Given the description of an element on the screen output the (x, y) to click on. 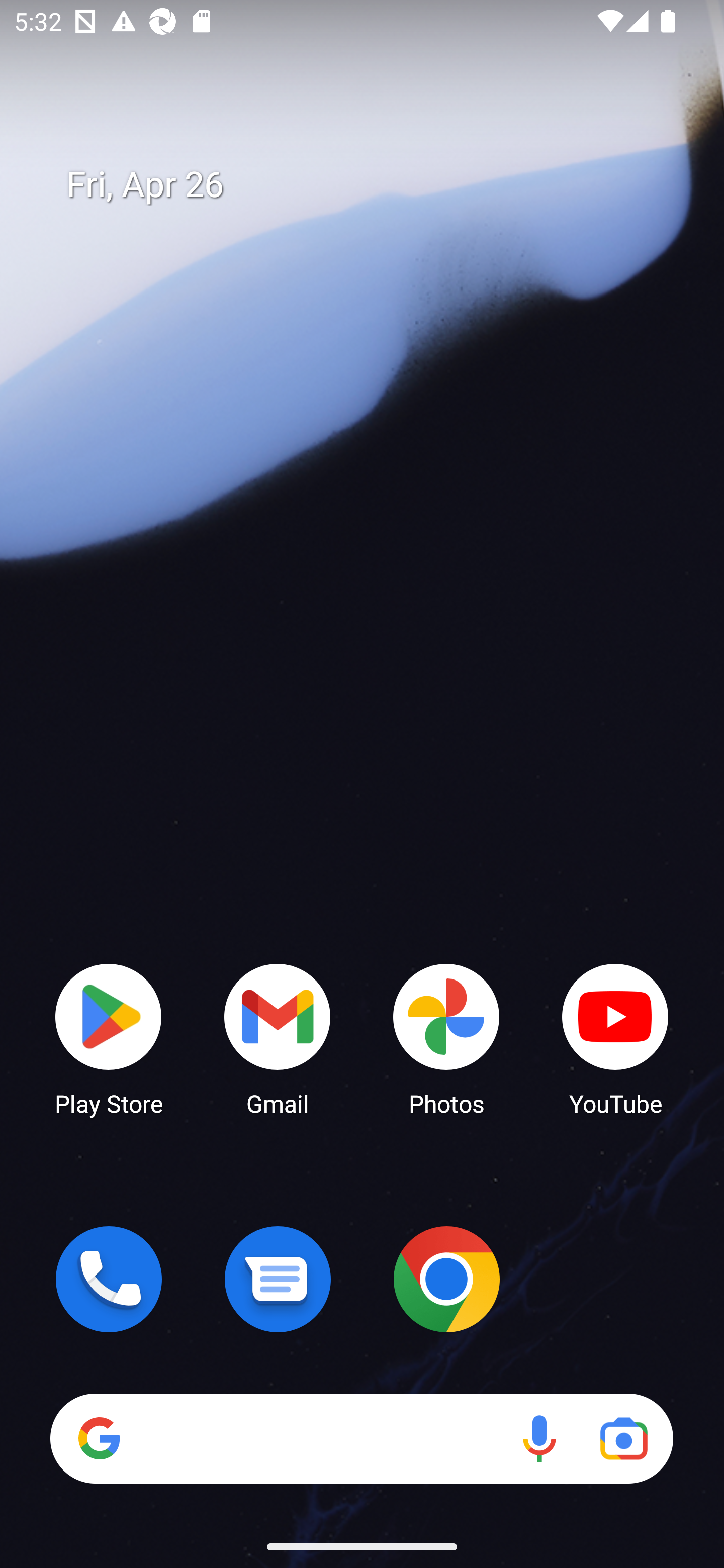
Fri, Apr 26 (375, 184)
Play Store (108, 1038)
Gmail (277, 1038)
Photos (445, 1038)
YouTube (615, 1038)
Phone (108, 1279)
Messages (277, 1279)
Chrome (446, 1279)
Search Voice search Google Lens (361, 1438)
Voice search (539, 1438)
Google Lens (623, 1438)
